Given the description of an element on the screen output the (x, y) to click on. 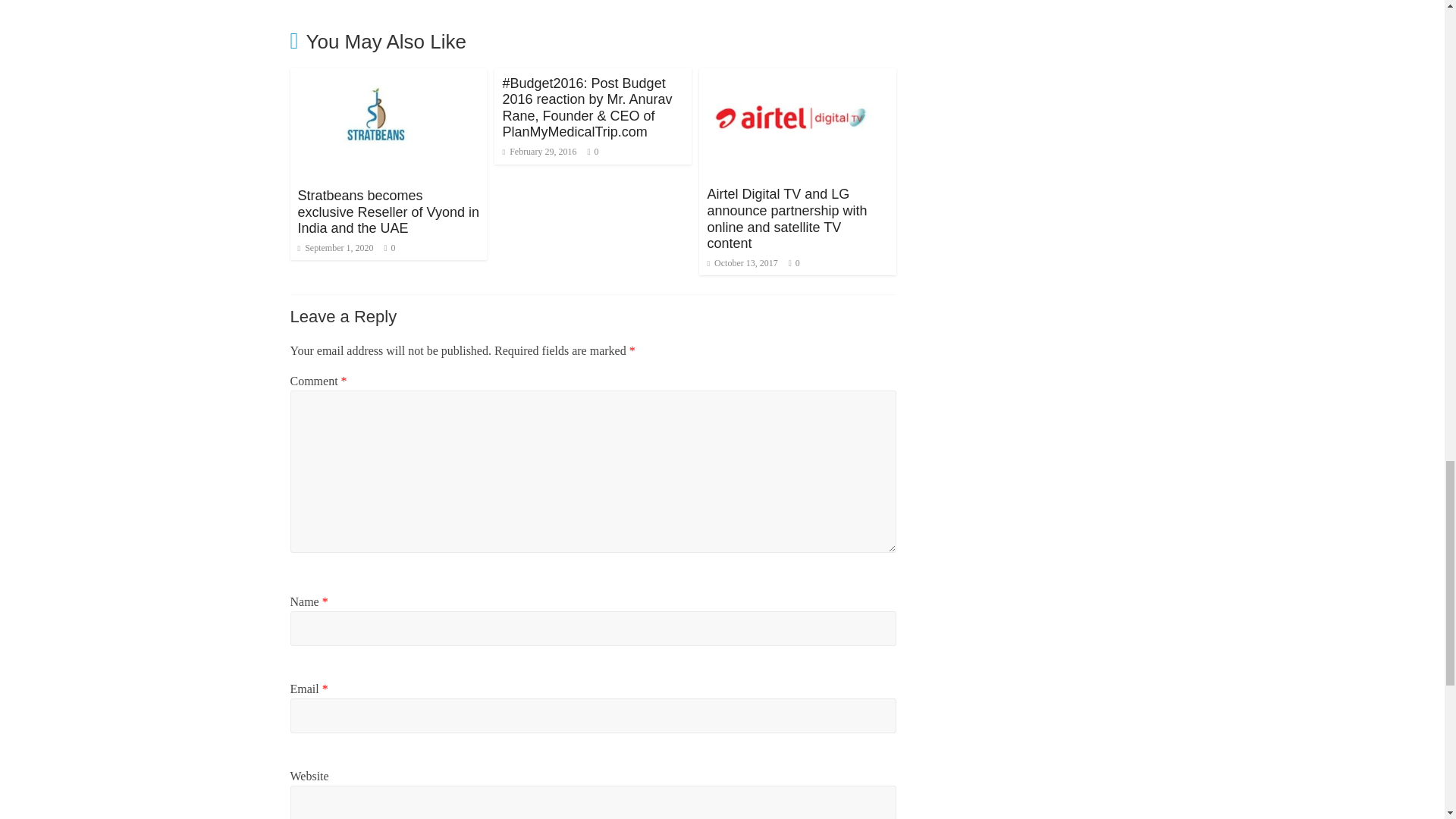
February 29, 2016 (539, 151)
1:16 pm (334, 247)
September 1, 2020 (334, 247)
October 13, 2017 (741, 262)
6:01 pm (539, 151)
